Given the description of an element on the screen output the (x, y) to click on. 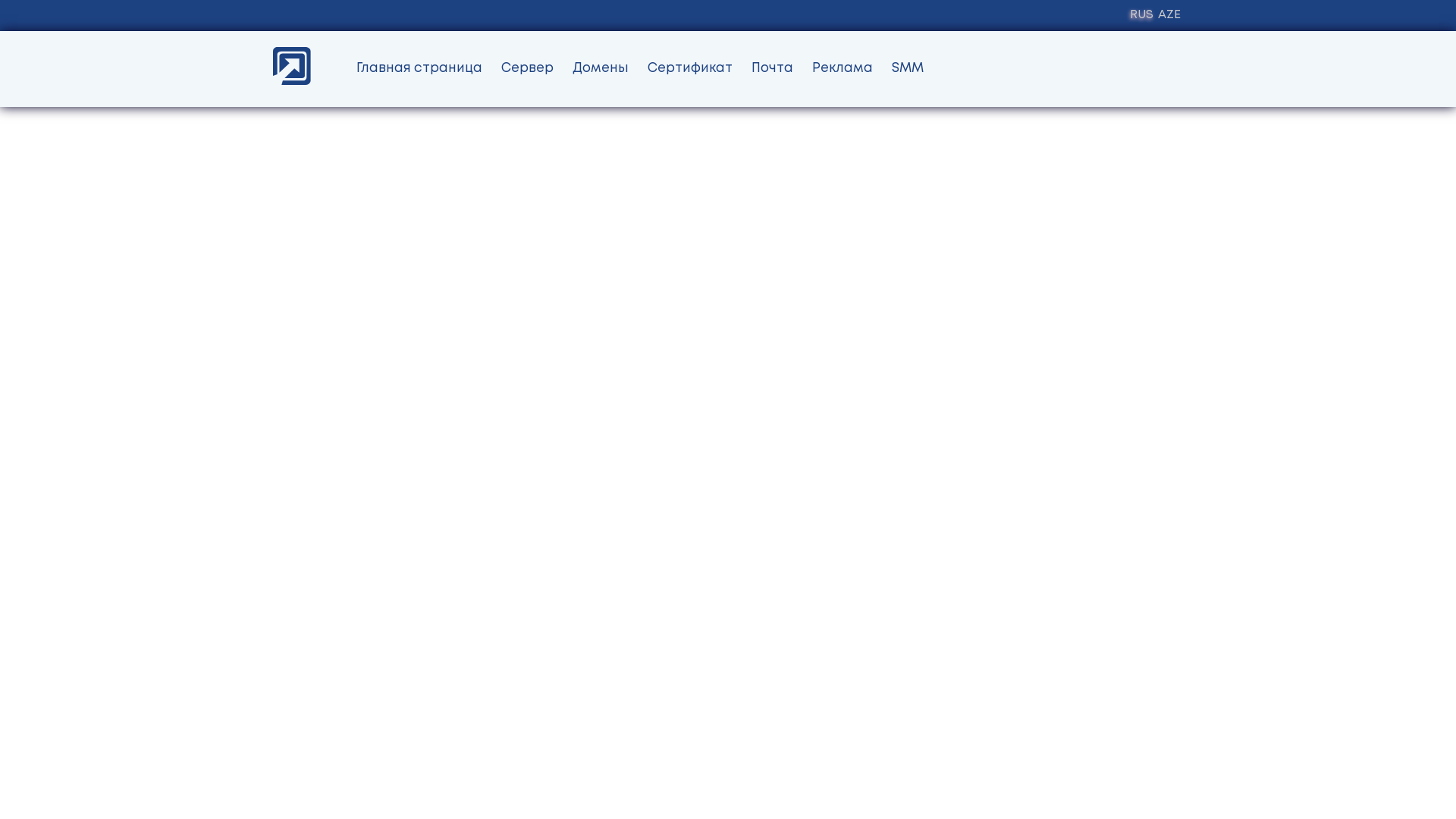
RUS Element type: text (1141, 14)
SMM Element type: text (907, 69)
AZE Element type: text (1169, 14)
